Given the description of an element on the screen output the (x, y) to click on. 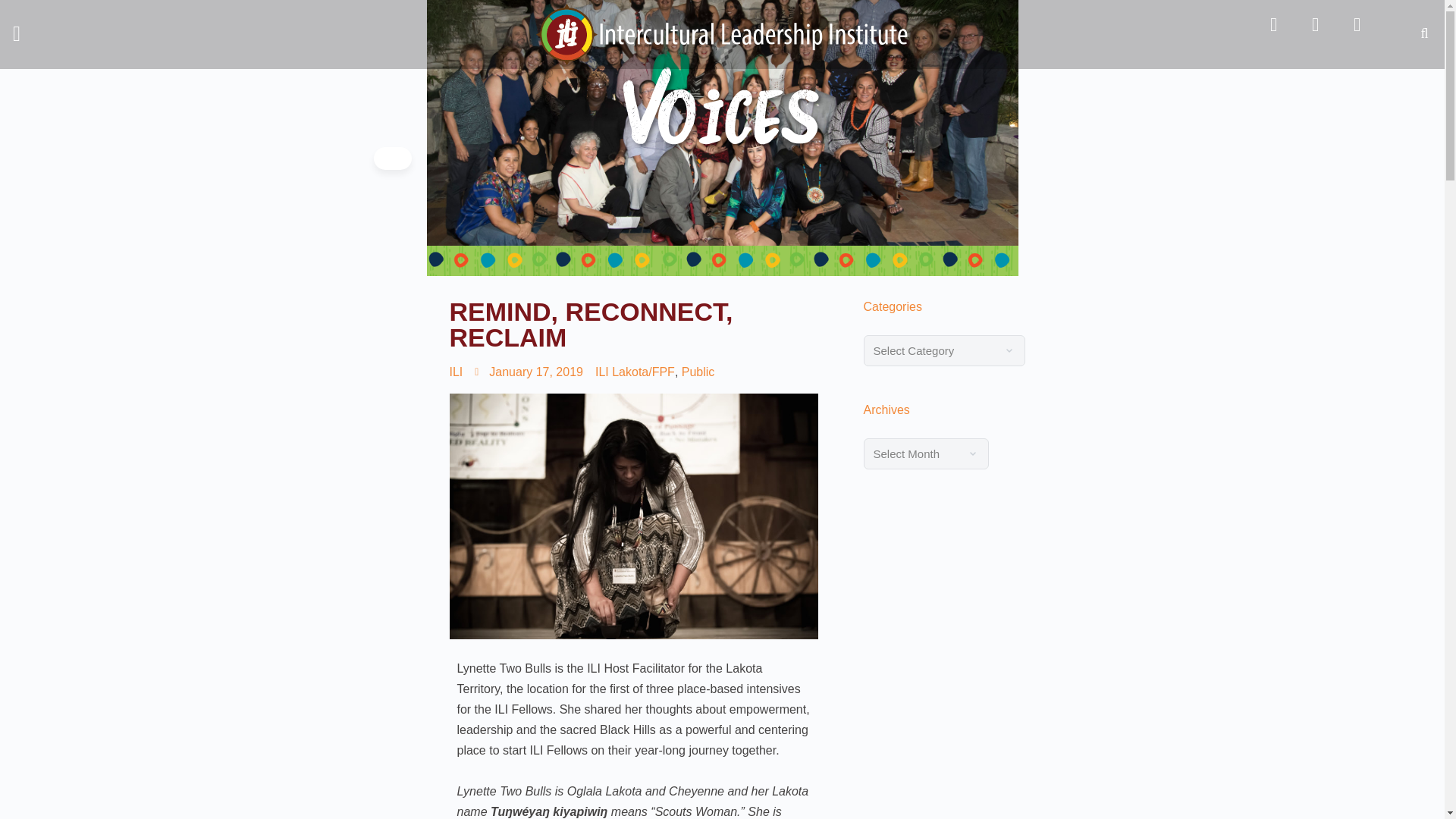
January 17, 2019 (528, 371)
Public (697, 371)
